Given the description of an element on the screen output the (x, y) to click on. 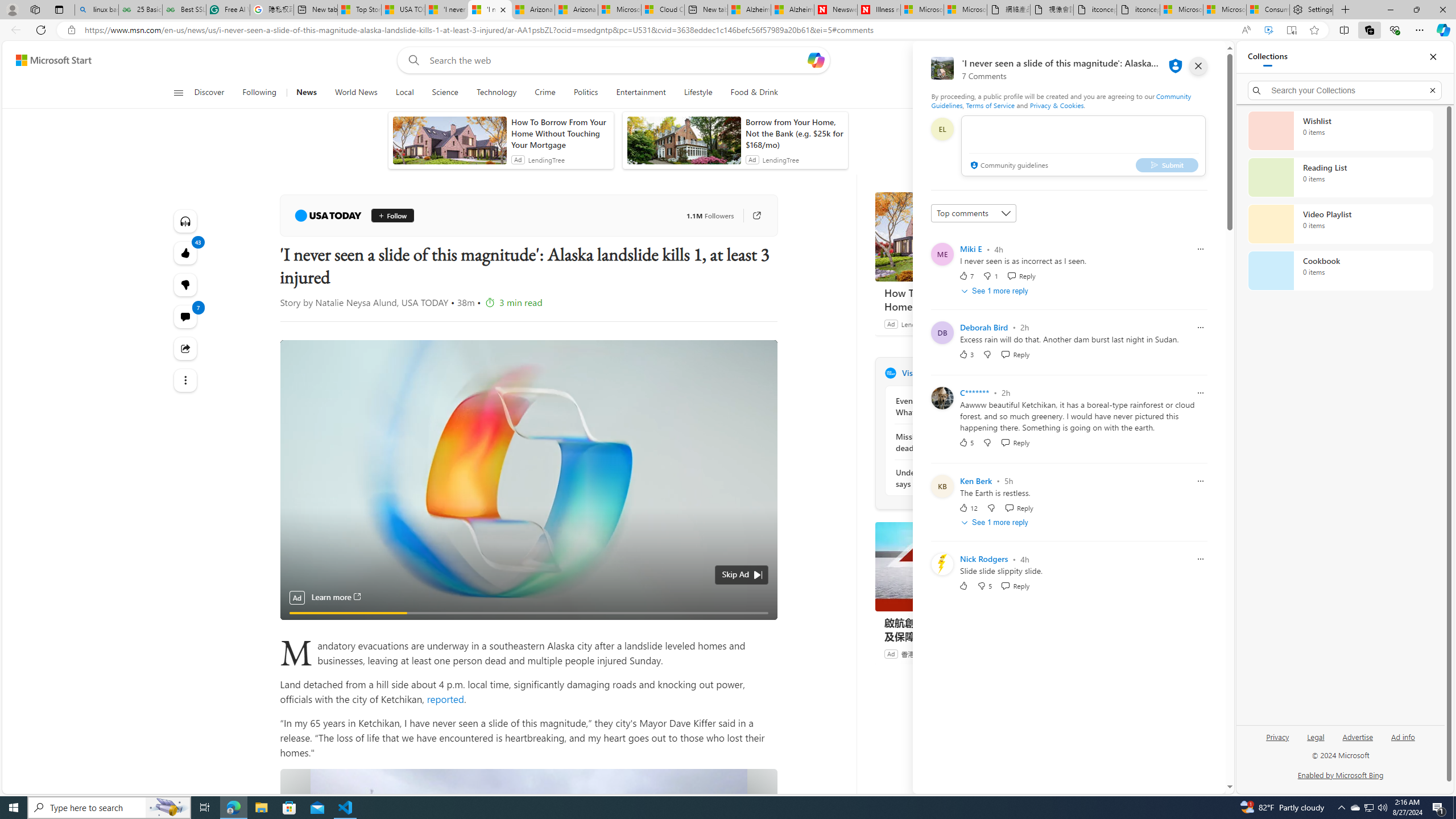
Exit search (1432, 90)
Ken Berk (975, 480)
43 (184, 284)
USA TODAY - MSN (403, 9)
anim-content (683, 144)
Follow (392, 215)
USA TODAY (889, 372)
Listen to this article (184, 220)
Open navigation menu (177, 92)
